Given the description of an element on the screen output the (x, y) to click on. 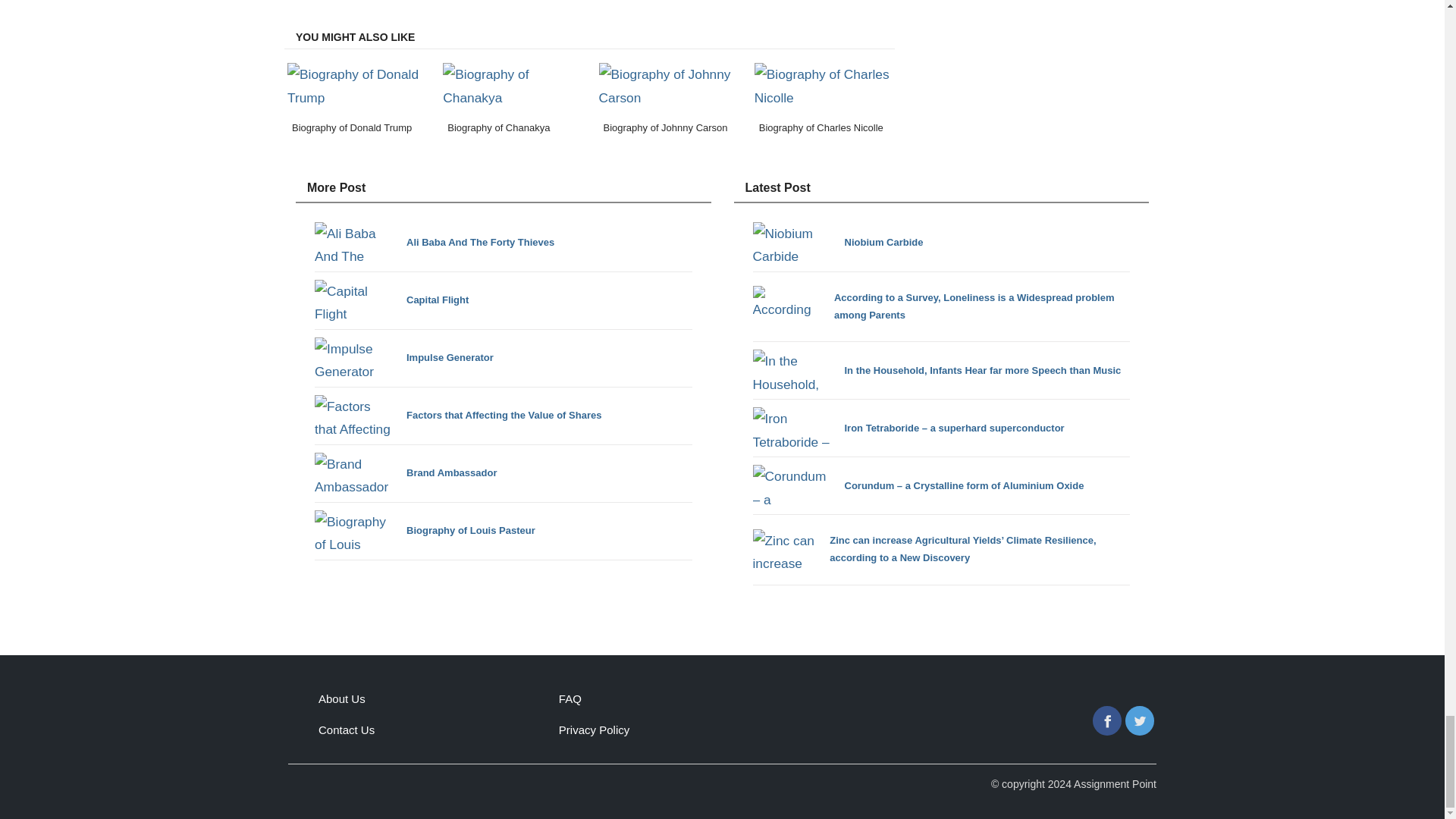
Biography of Louis Pasteur (424, 531)
Impulse Generator (403, 358)
Biography of Johnny Carson (667, 101)
In the Household, Infants Hear far more Speech than Music (936, 370)
Ali Baba And The Forty Thieves (434, 242)
Biography of Chanakya (511, 101)
Biography of Donald Trump (355, 101)
Brand Ambassador (405, 473)
Factors that Affecting the Value of Shares (457, 415)
Biography of Charles Nicolle (823, 101)
Capital Flight (391, 300)
Niobium Carbide (837, 242)
